Given the description of an element on the screen output the (x, y) to click on. 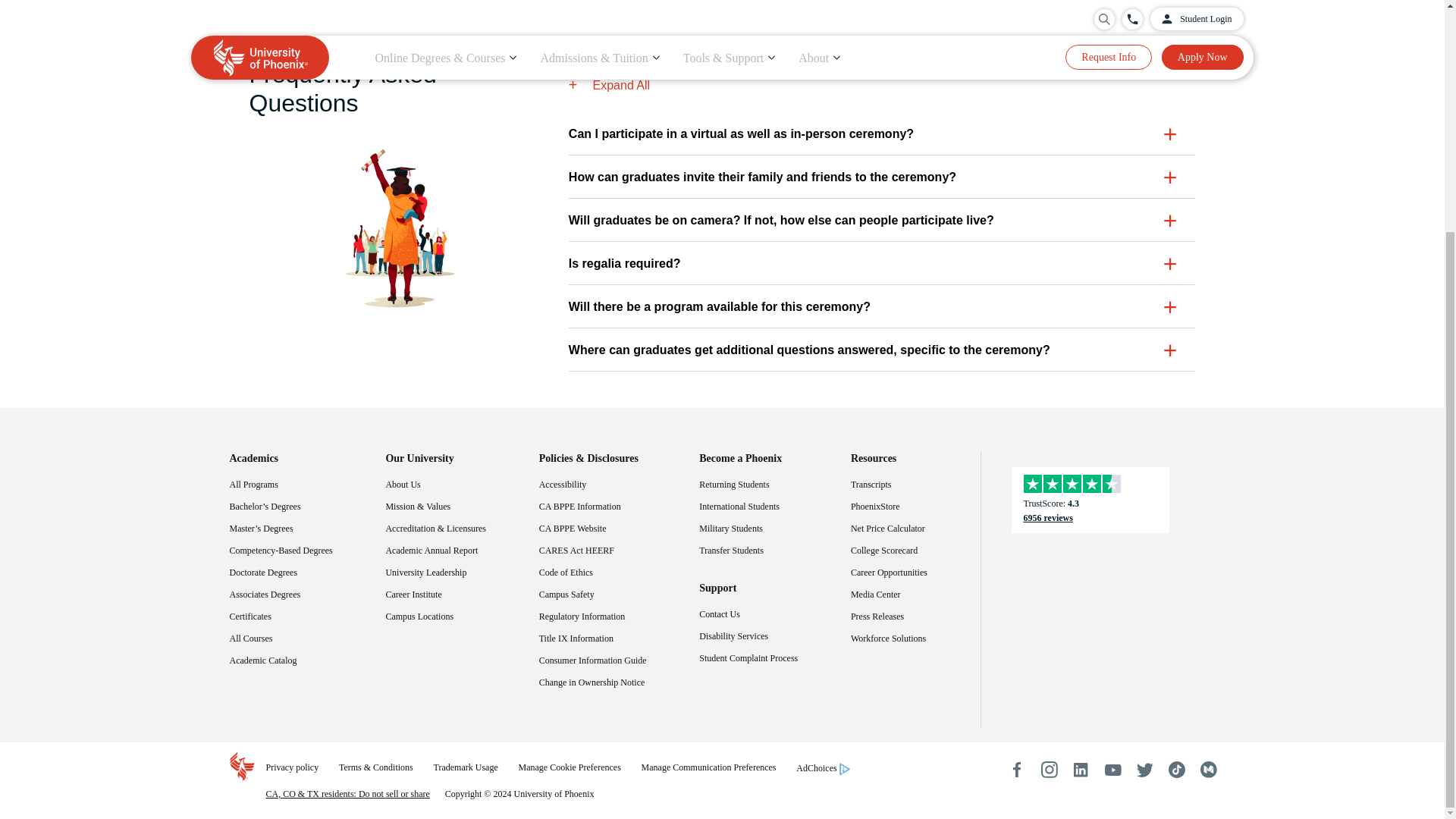
Connect to UOPX on Twitter (1144, 769)
Connect to UOPX on LinkedIn (1080, 769)
Connect to UOPX on Instagram (1048, 769)
Connect to UOPX on YouTube (1112, 769)
Connect on UOPX Tiktok (1175, 769)
Connect to UOPX on Facebook (1016, 769)
Connect to UOPX on Medium (1207, 769)
